Given the description of an element on the screen output the (x, y) to click on. 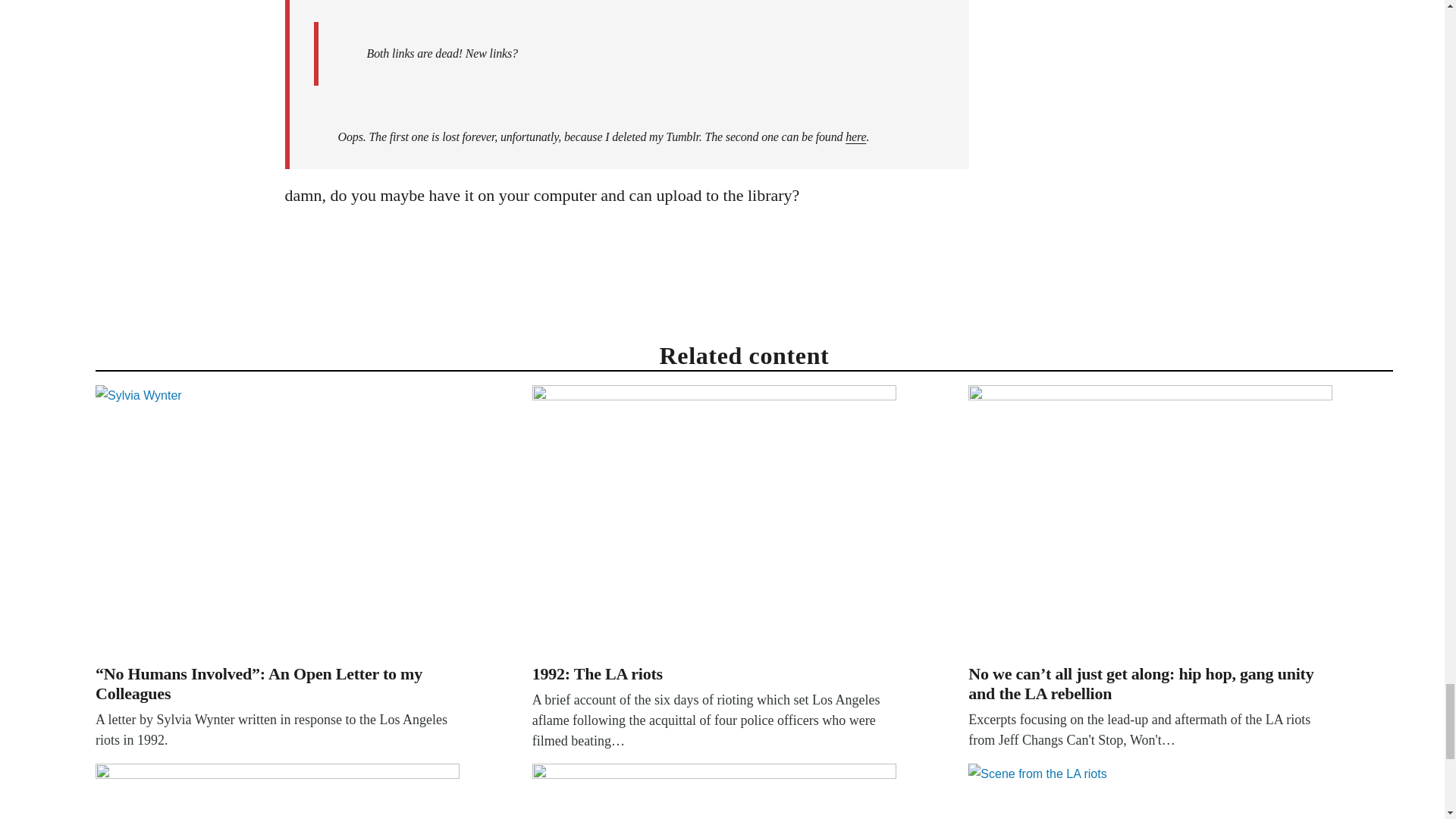
Scene from the LA riots (1150, 791)
Sylvia Wynter (278, 521)
